Given the description of an element on the screen output the (x, y) to click on. 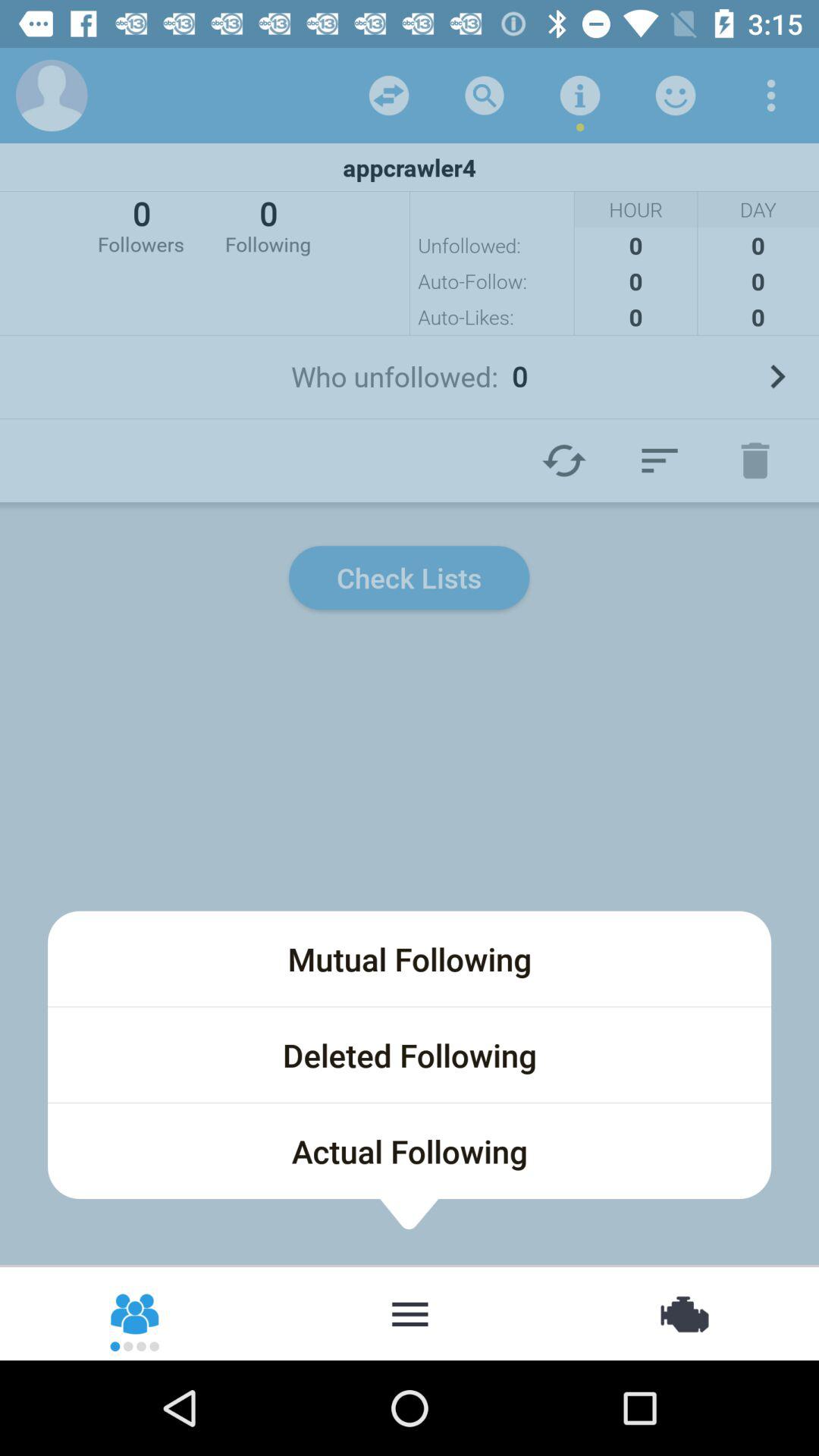
follow (659, 460)
